Given the description of an element on the screen output the (x, y) to click on. 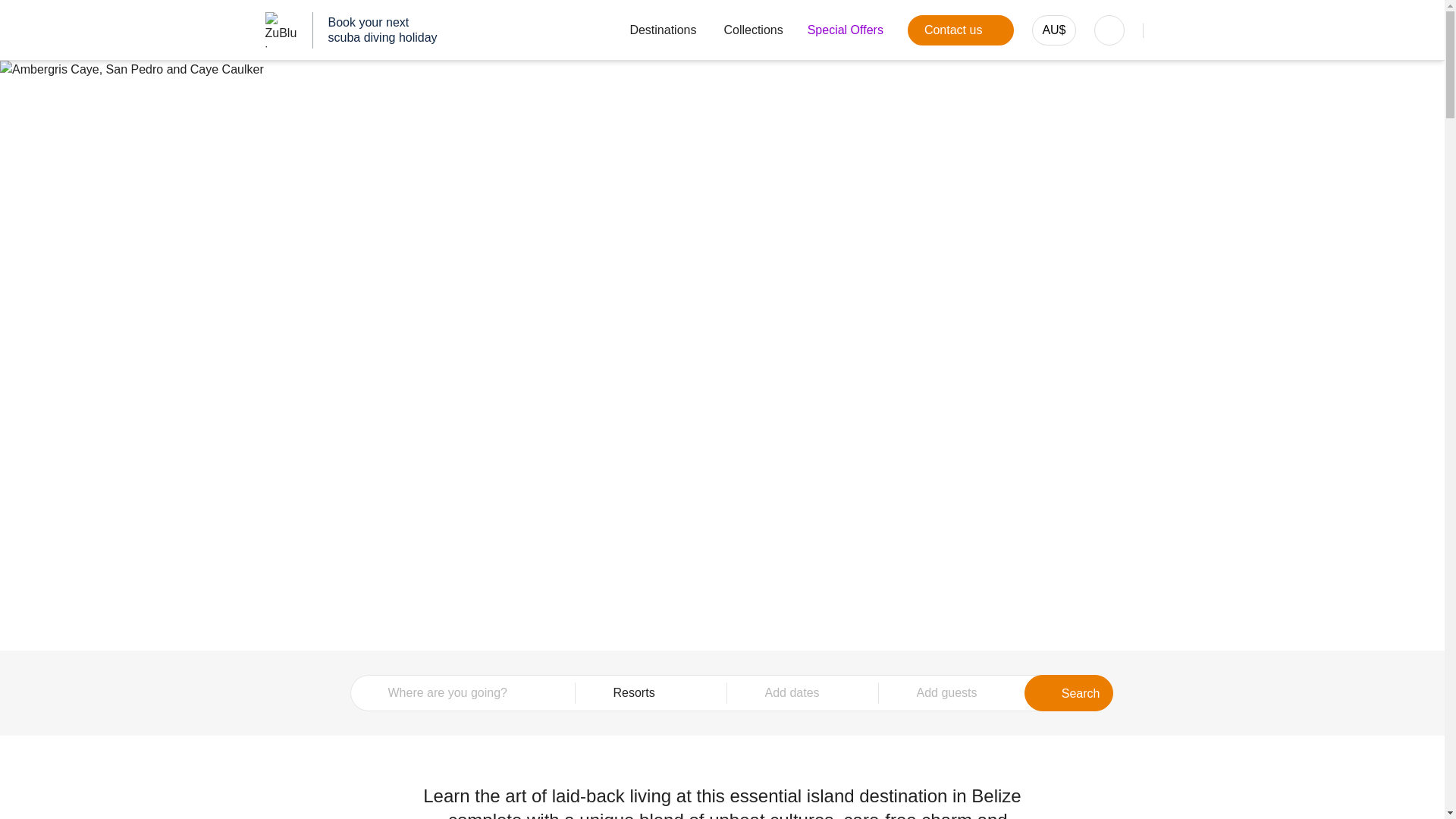
Toggle dropdown (1108, 30)
button (651, 30)
Resorts (650, 692)
Toggle dropdown (351, 30)
Add guests (960, 30)
Resorts (951, 692)
Collections (650, 692)
Add guests (753, 30)
Destinations (951, 692)
Toggle dropdown (651, 30)
button (1053, 30)
button (845, 30)
Add dates (753, 30)
Add dates (801, 692)
